Given the description of an element on the screen output the (x, y) to click on. 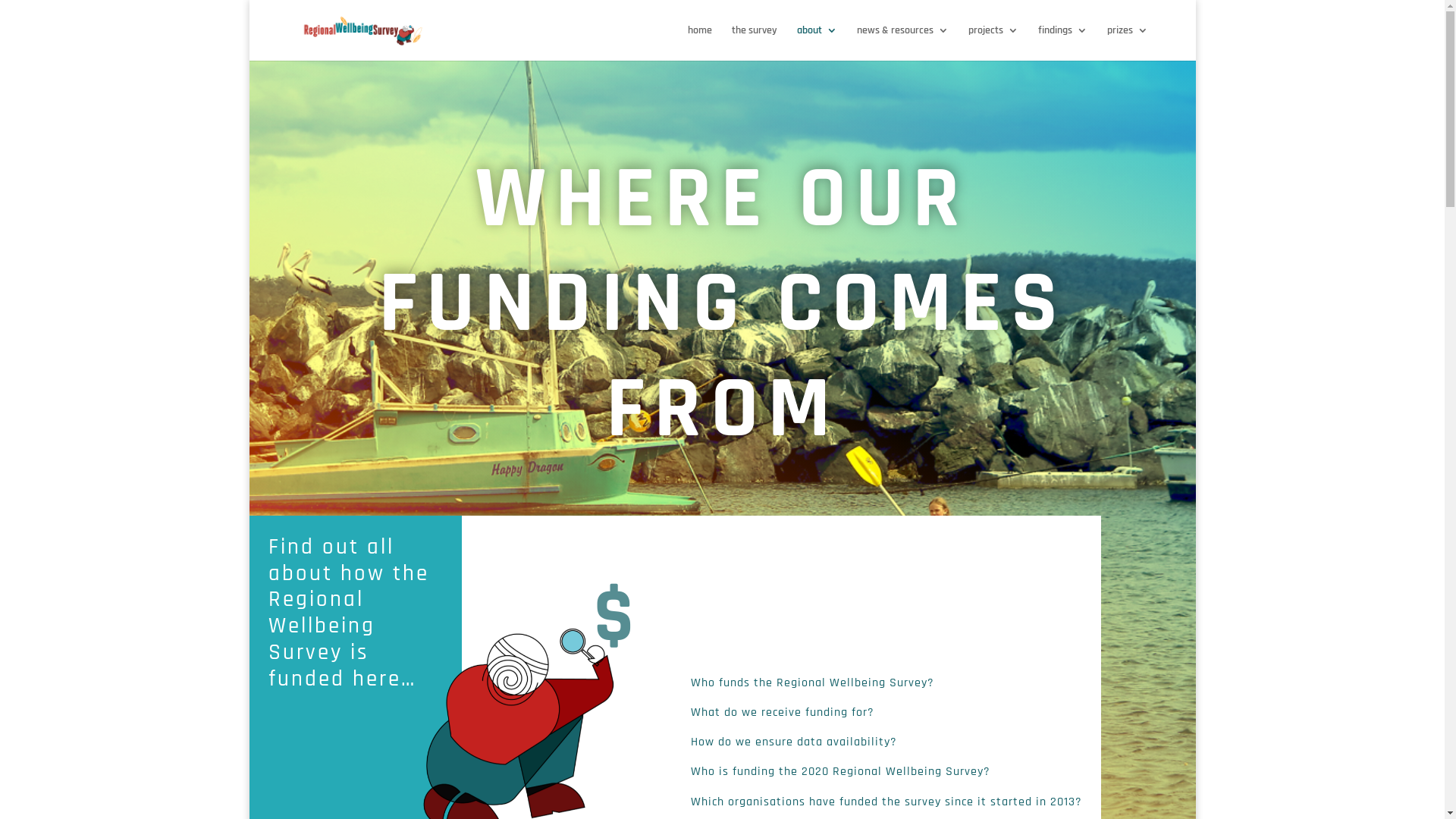
about Element type: text (817, 42)
home Element type: text (699, 42)
projects Element type: text (993, 42)
the survey Element type: text (754, 42)
findings Element type: text (1062, 42)
news & resources Element type: text (902, 42)
prizes Element type: text (1127, 42)
